Given the description of an element on the screen output the (x, y) to click on. 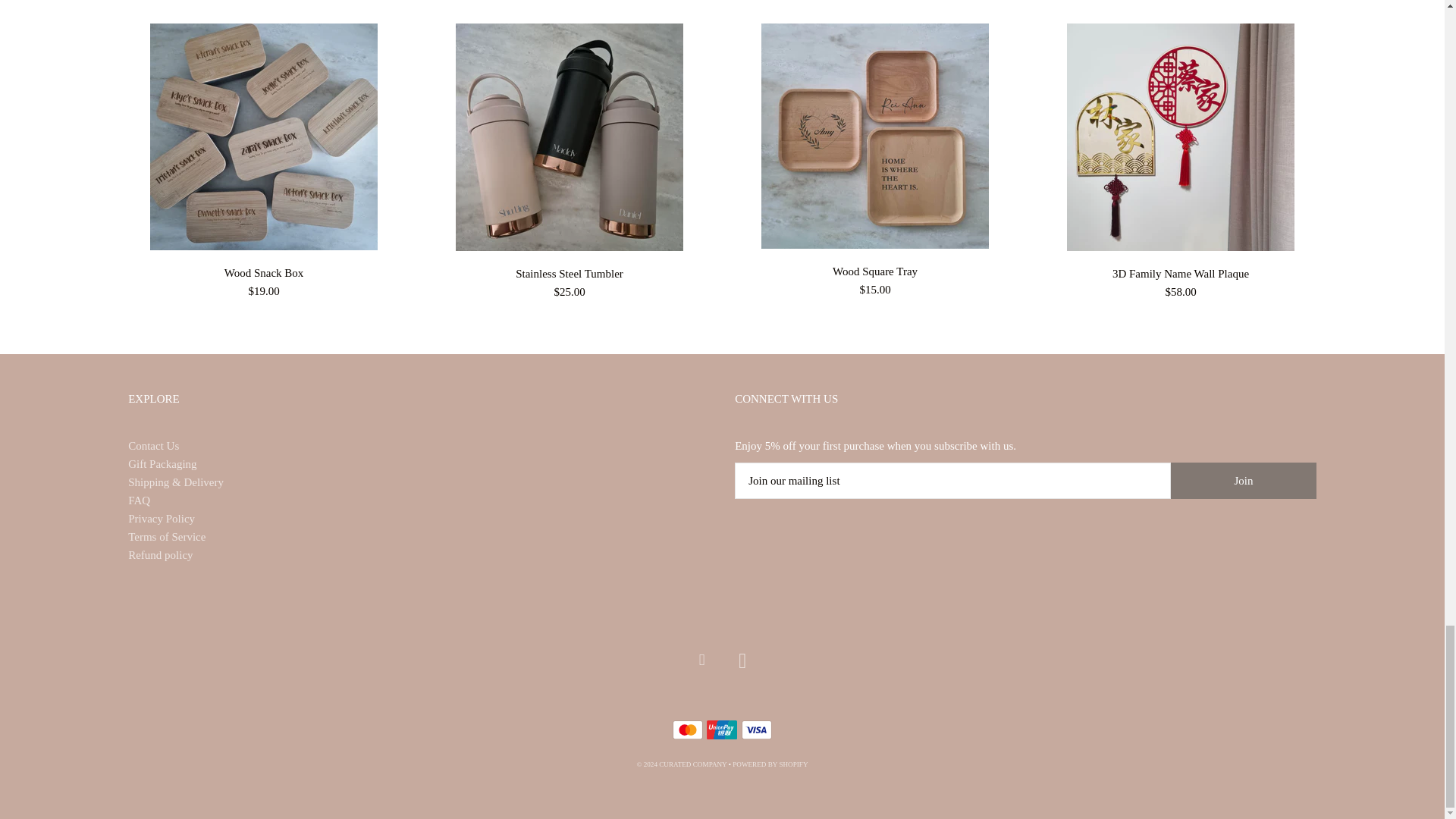
Union Pay (721, 729)
Join (1243, 480)
Mastercard (687, 729)
Visa (756, 729)
